Given the description of an element on the screen output the (x, y) to click on. 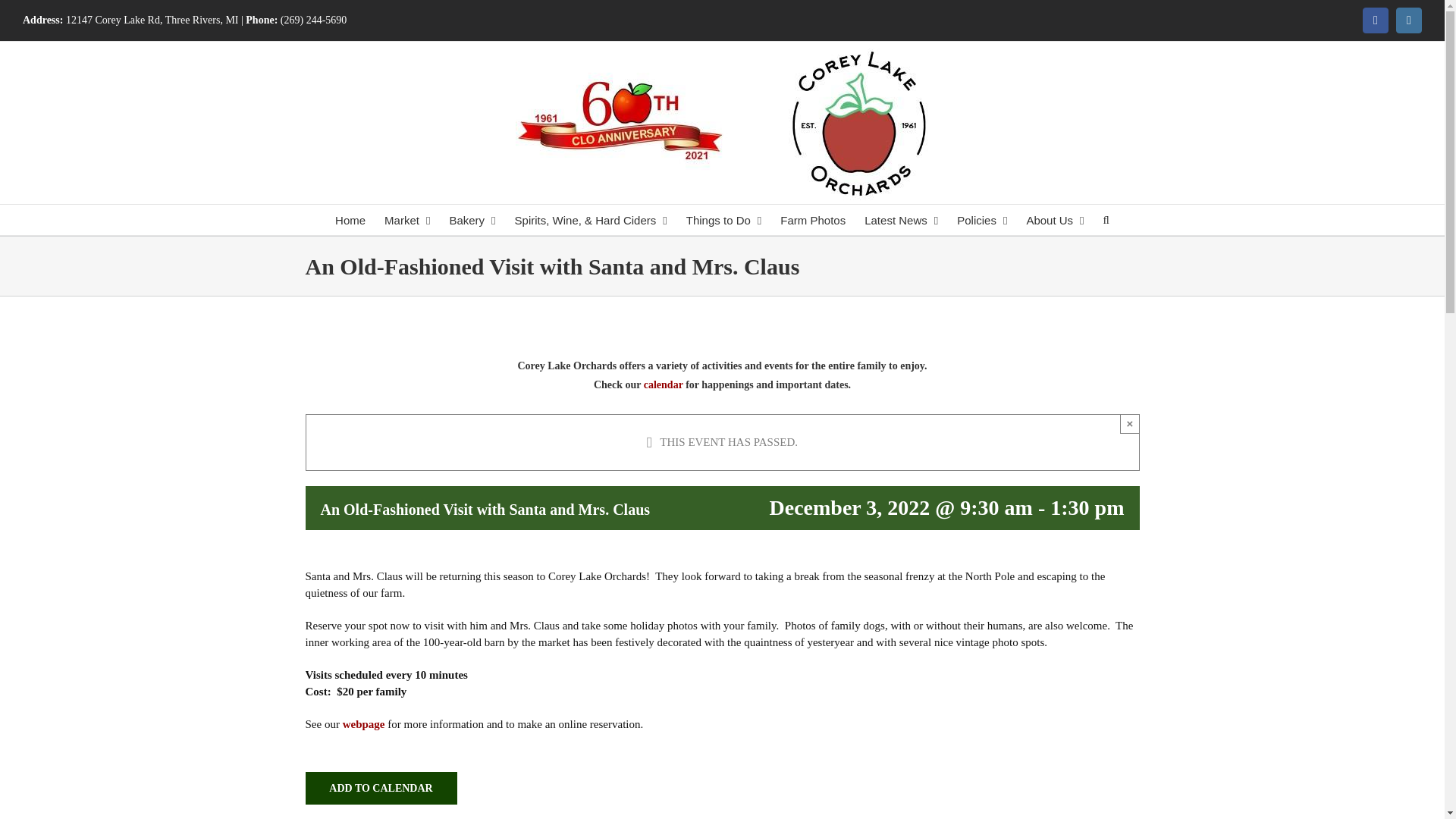
Instagram (1409, 20)
Facebook (1375, 20)
Market (407, 219)
Things to Do (724, 219)
Instagram (1409, 20)
Home (350, 219)
Facebook (1375, 20)
Bakery (472, 219)
